Given the description of an element on the screen output the (x, y) to click on. 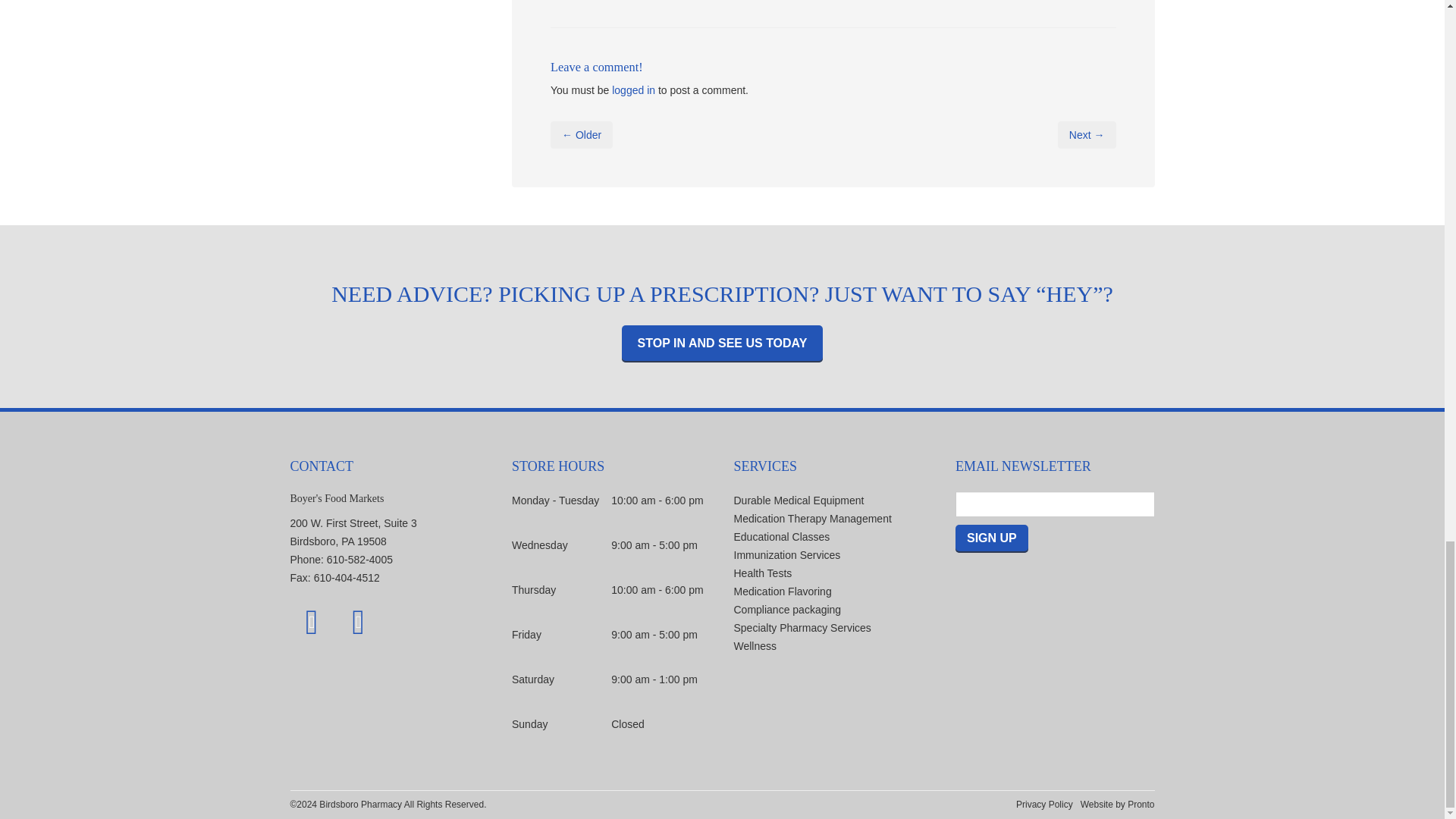
logged in (633, 90)
sign up (991, 538)
